Given the description of an element on the screen output the (x, y) to click on. 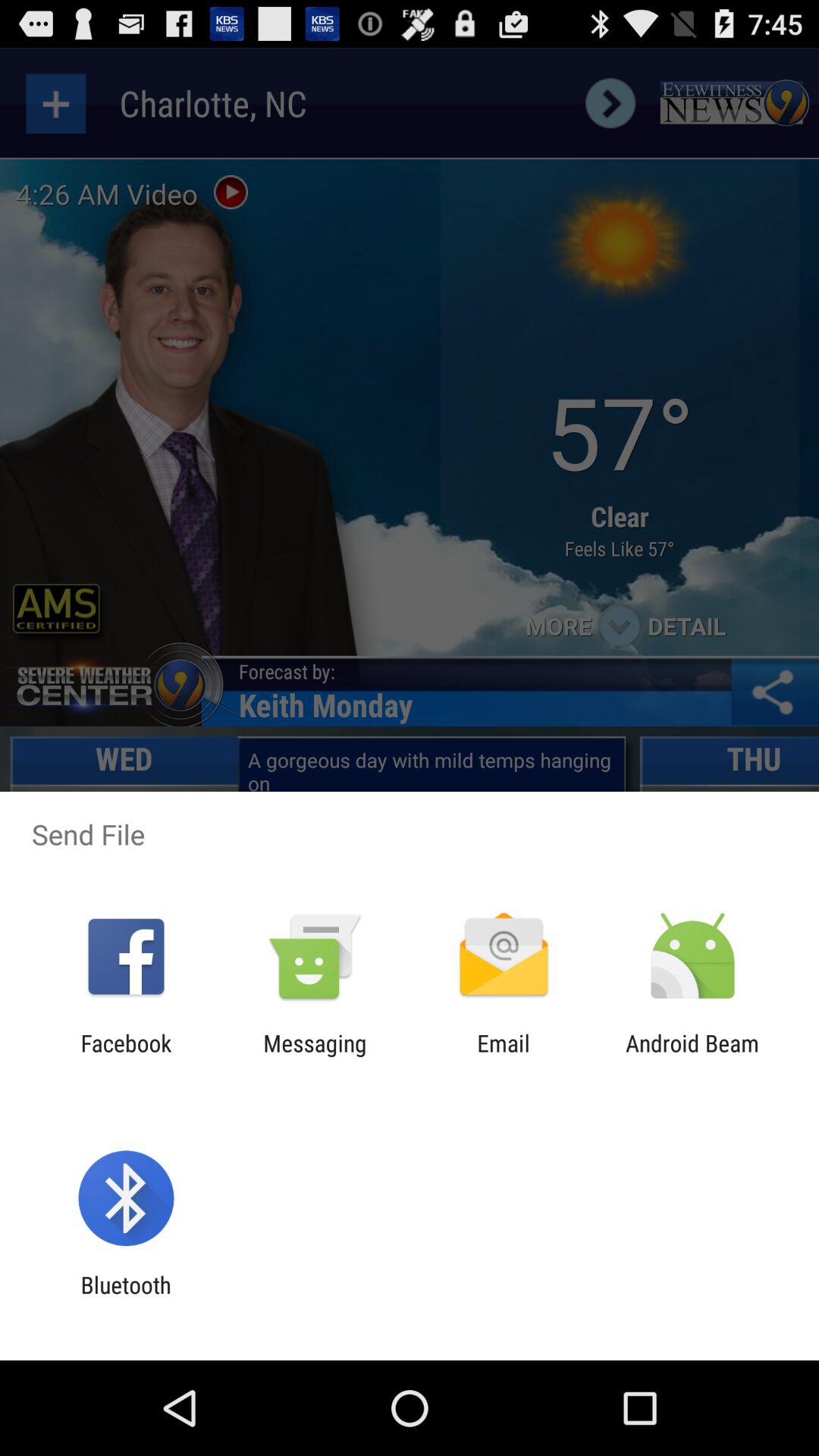
turn off the icon next to email (314, 1056)
